Given the description of an element on the screen output the (x, y) to click on. 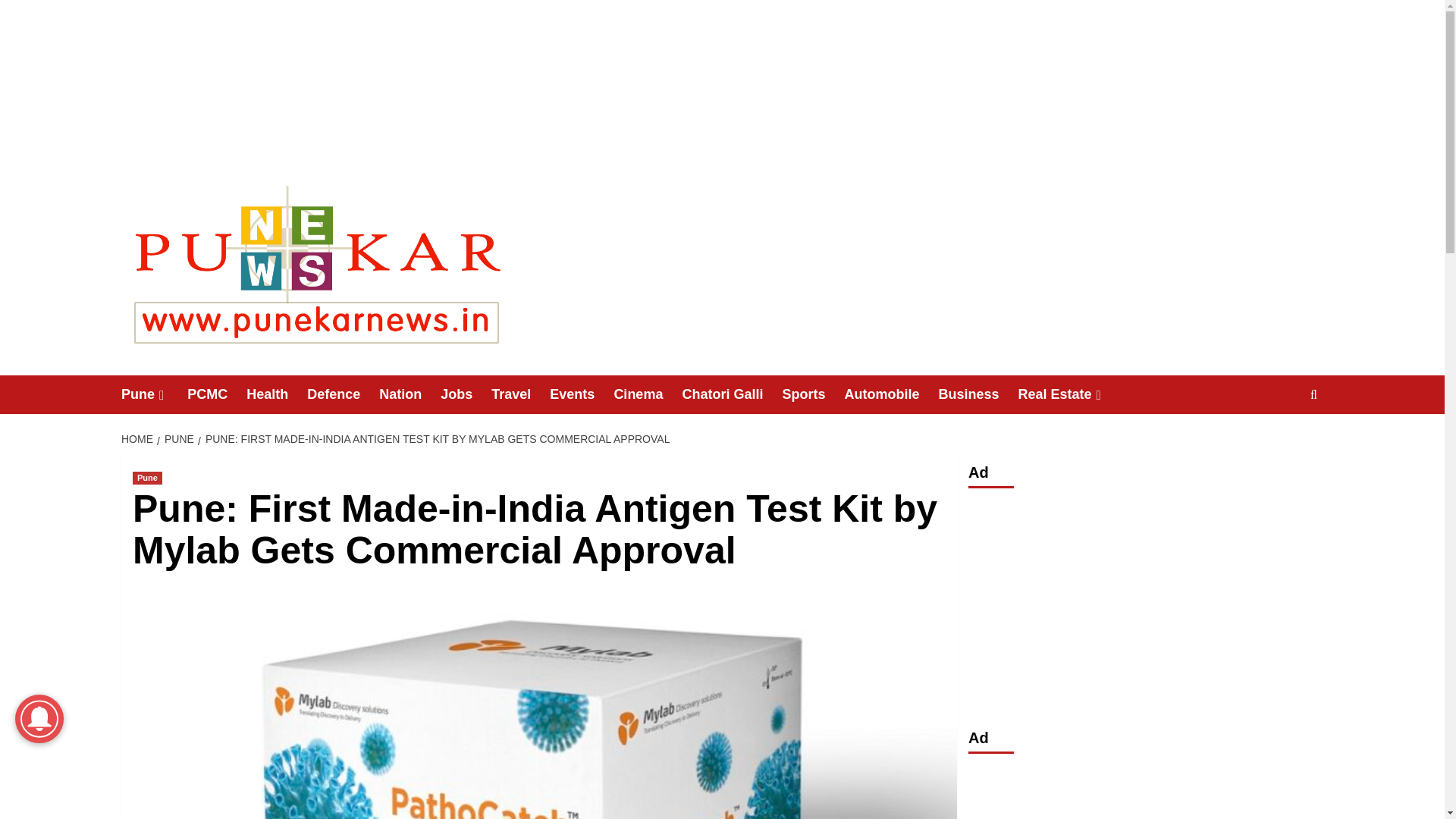
Travel (521, 394)
Sports (812, 394)
Pune (153, 394)
Advertisement (1145, 791)
PUNE (177, 439)
Defence (342, 394)
Health (276, 394)
Pune (146, 477)
Search (1278, 441)
Business (977, 394)
Advertisement (1145, 603)
PCMC (216, 394)
Automobile (890, 394)
